Given the description of an element on the screen output the (x, y) to click on. 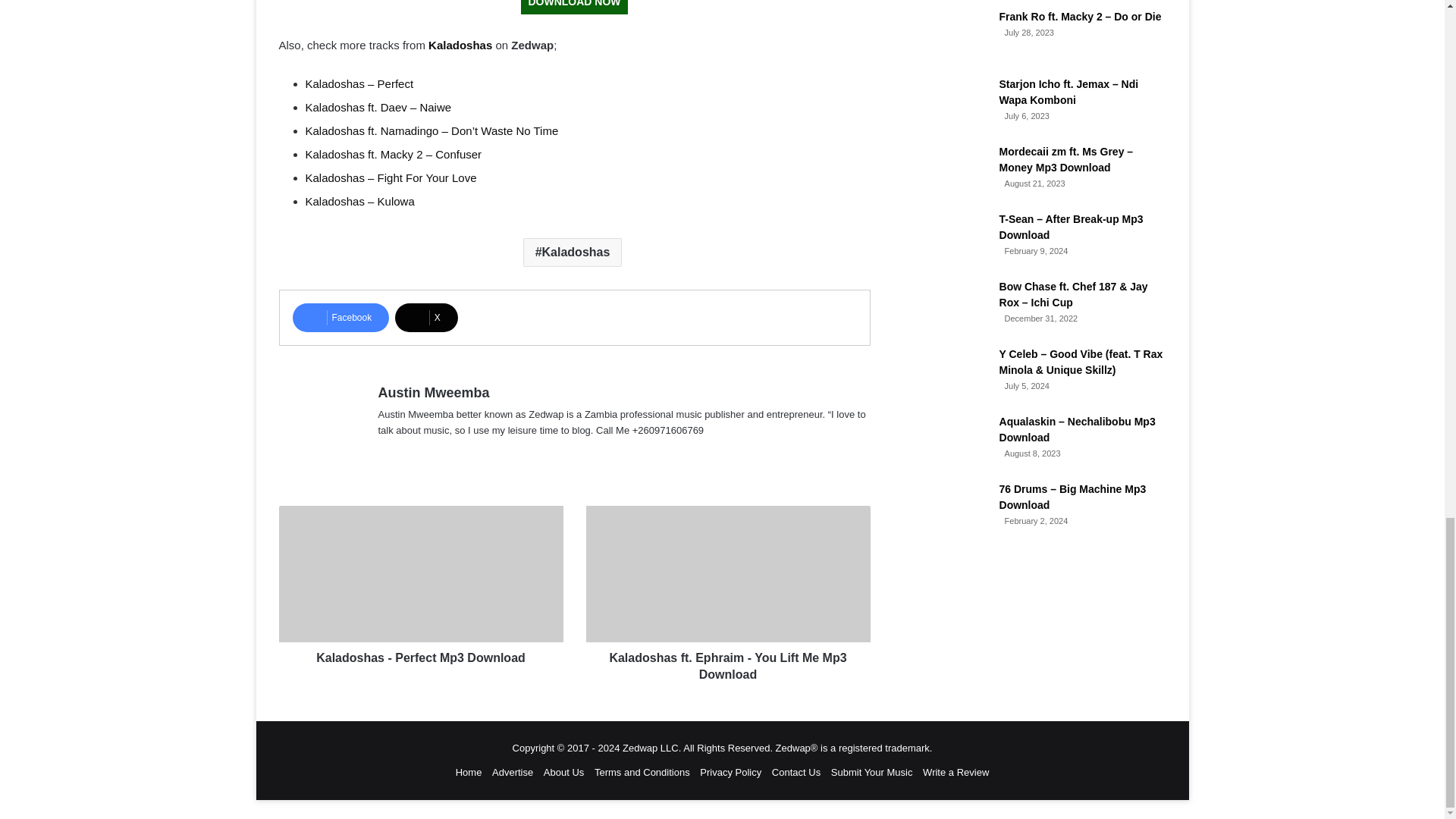
X (426, 317)
Kaladoshas (460, 44)
DOWNLOAD NOW (574, 7)
Facebook (341, 317)
